Given the description of an element on the screen output the (x, y) to click on. 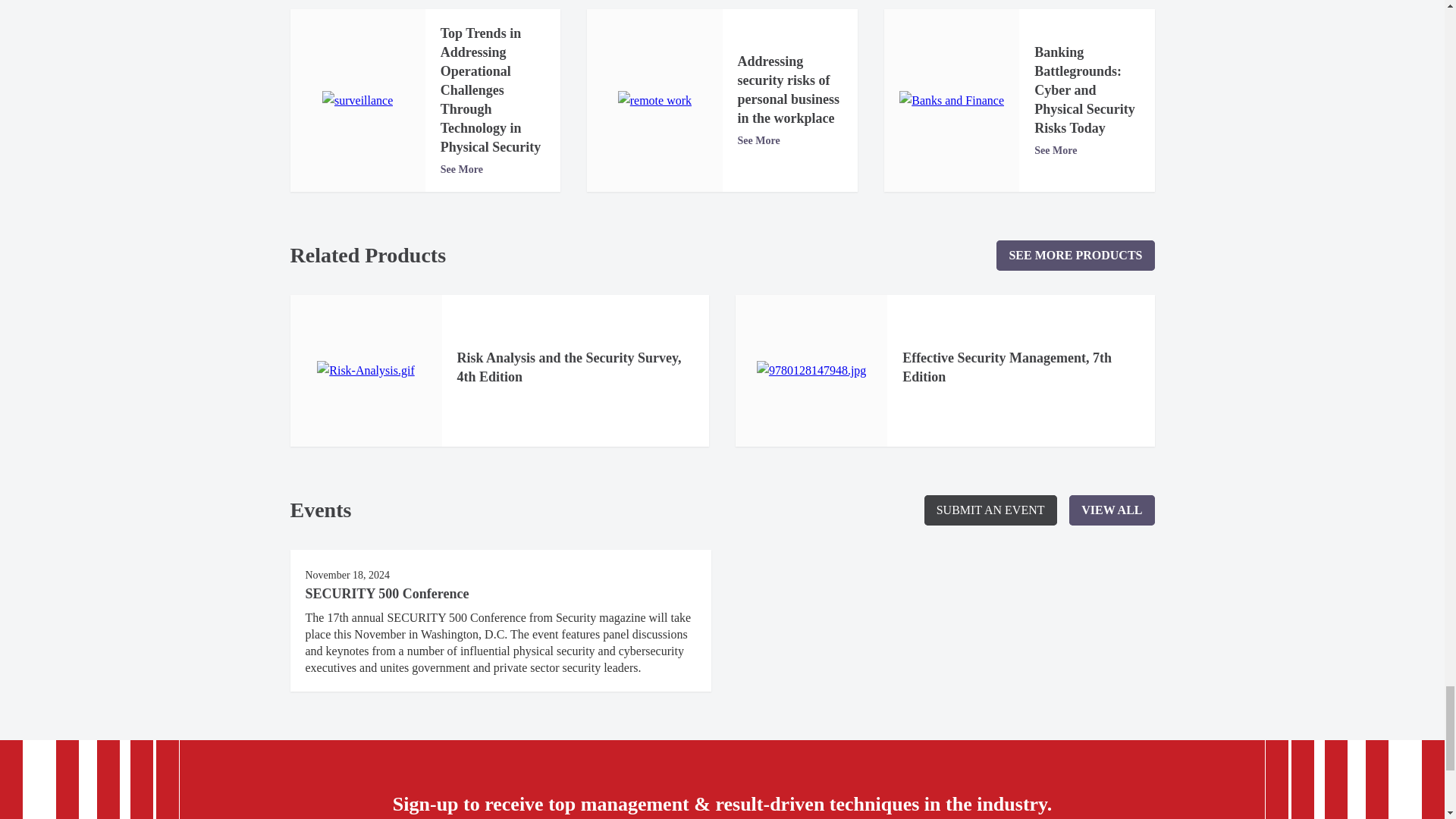
Risk-Analysis.gif (365, 370)
banks feat (951, 100)
9780128147948.jpg (811, 370)
surveillance (357, 100)
